Given the description of an element on the screen output the (x, y) to click on. 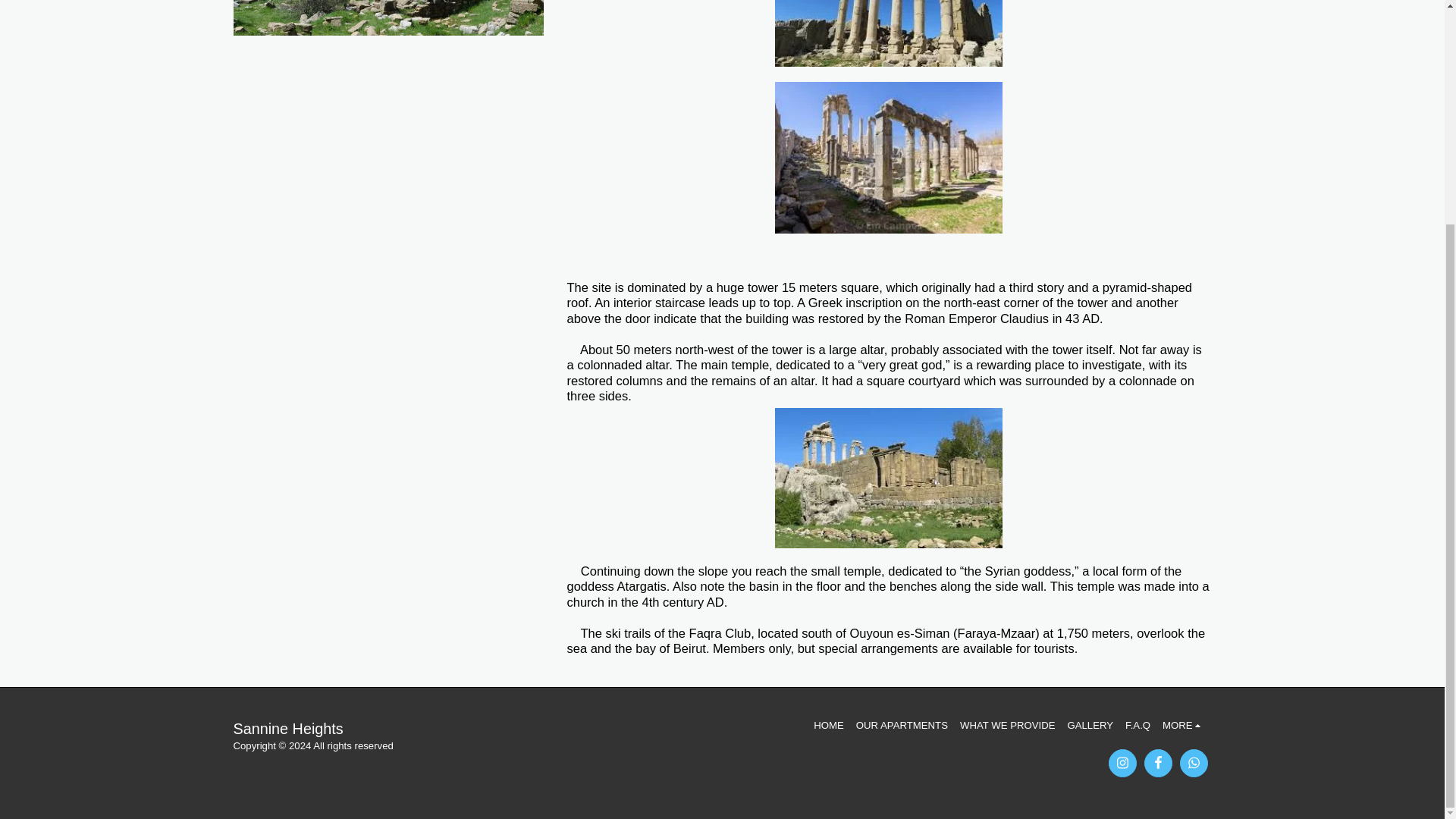
GALLERY (1090, 725)
MORE   (1183, 725)
HOME (828, 725)
WHAT WE PROVIDE (1007, 725)
F.A.Q (1137, 725)
OUR APARTMENTS (901, 725)
